Given the description of an element on the screen output the (x, y) to click on. 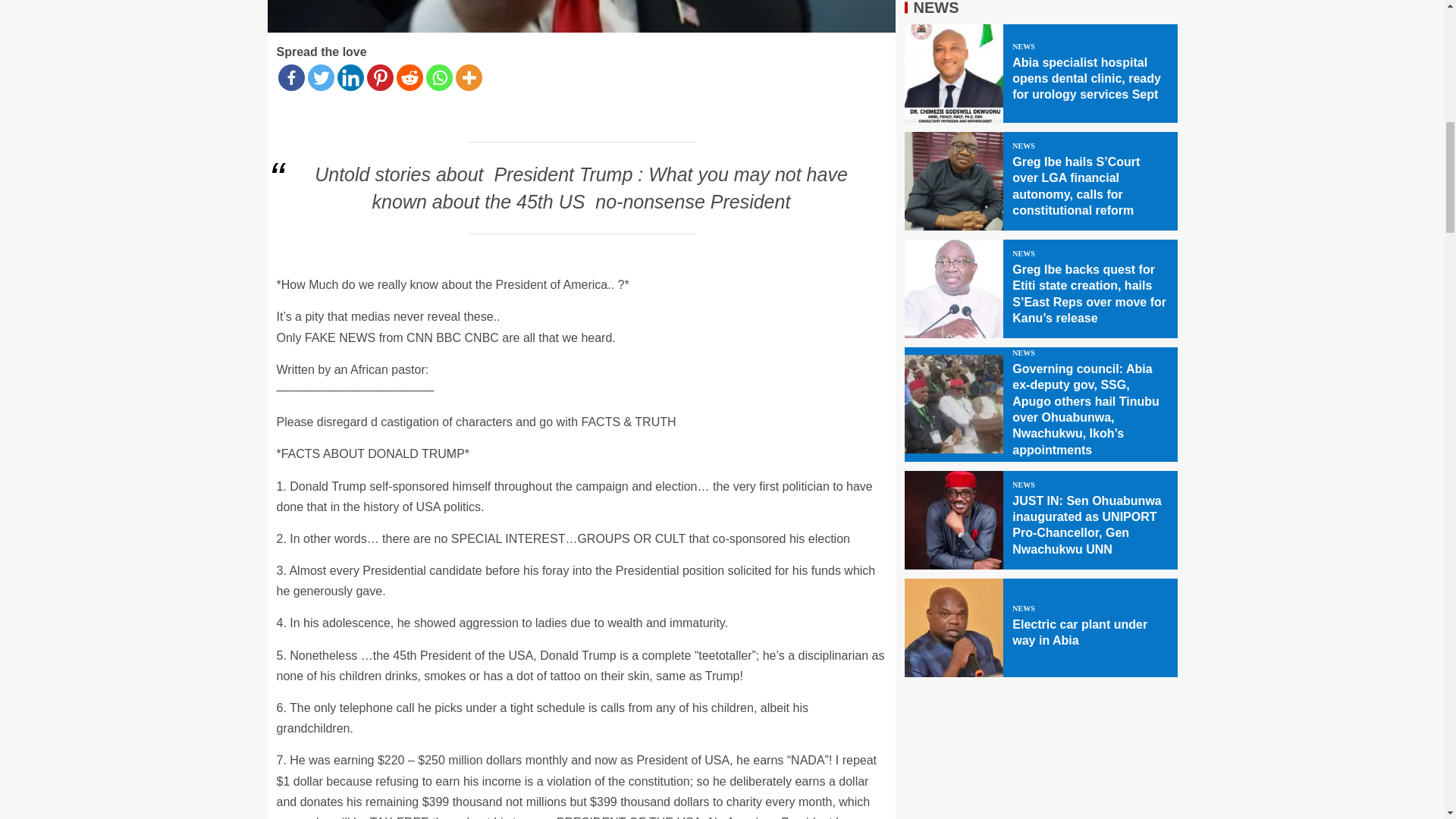
Linkedin (349, 77)
More (467, 77)
Facebook (291, 77)
Reddit (409, 77)
Pinterest (379, 77)
Twitter (320, 77)
Whatsapp (439, 77)
